Given the description of an element on the screen output the (x, y) to click on. 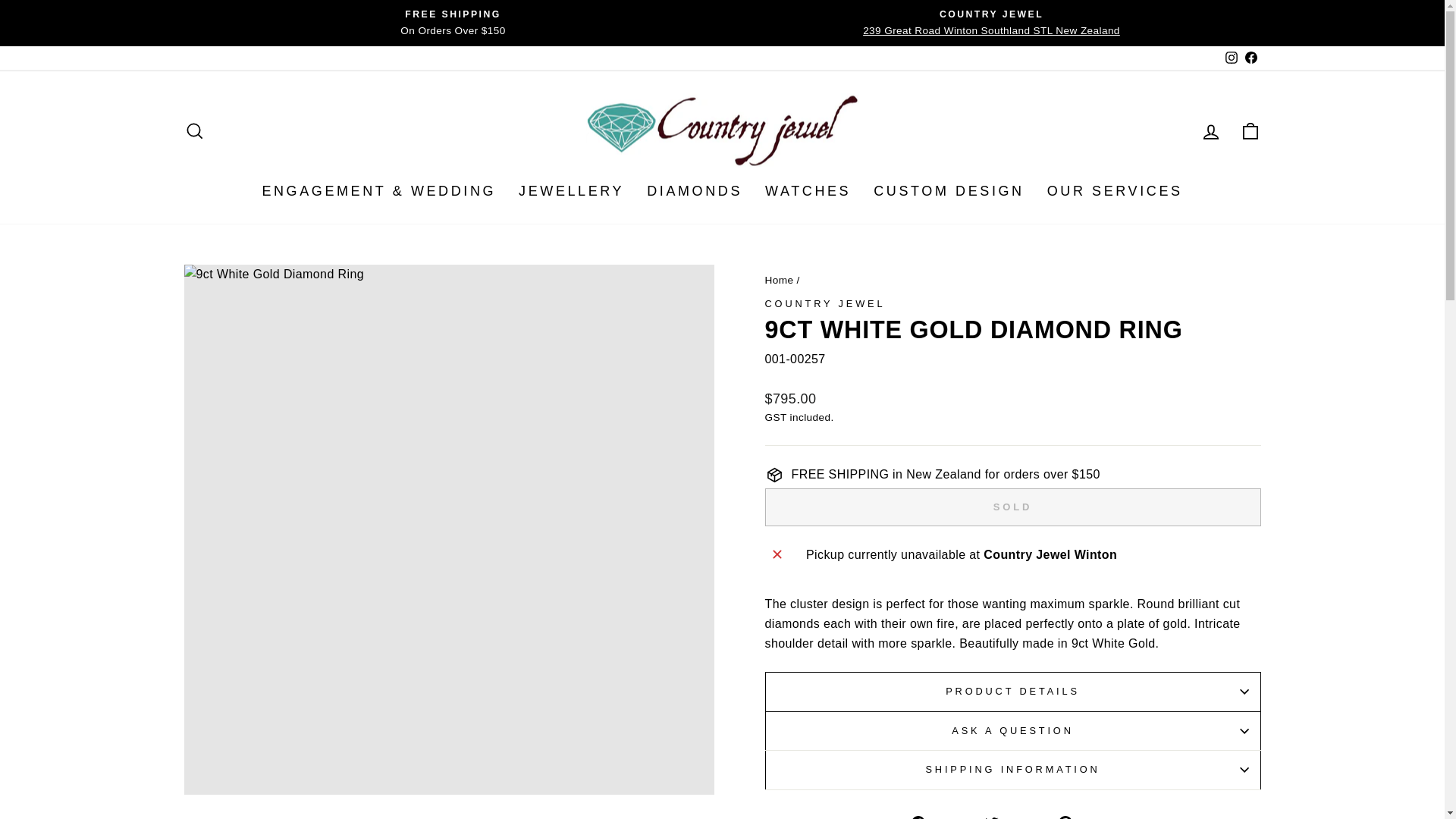
Back to the frontpage (778, 279)
Share on Facebook (941, 816)
Country Jewel (824, 303)
Tweet on Twitter (1015, 816)
Pin on Pinterest (1085, 816)
